Given the description of an element on the screen output the (x, y) to click on. 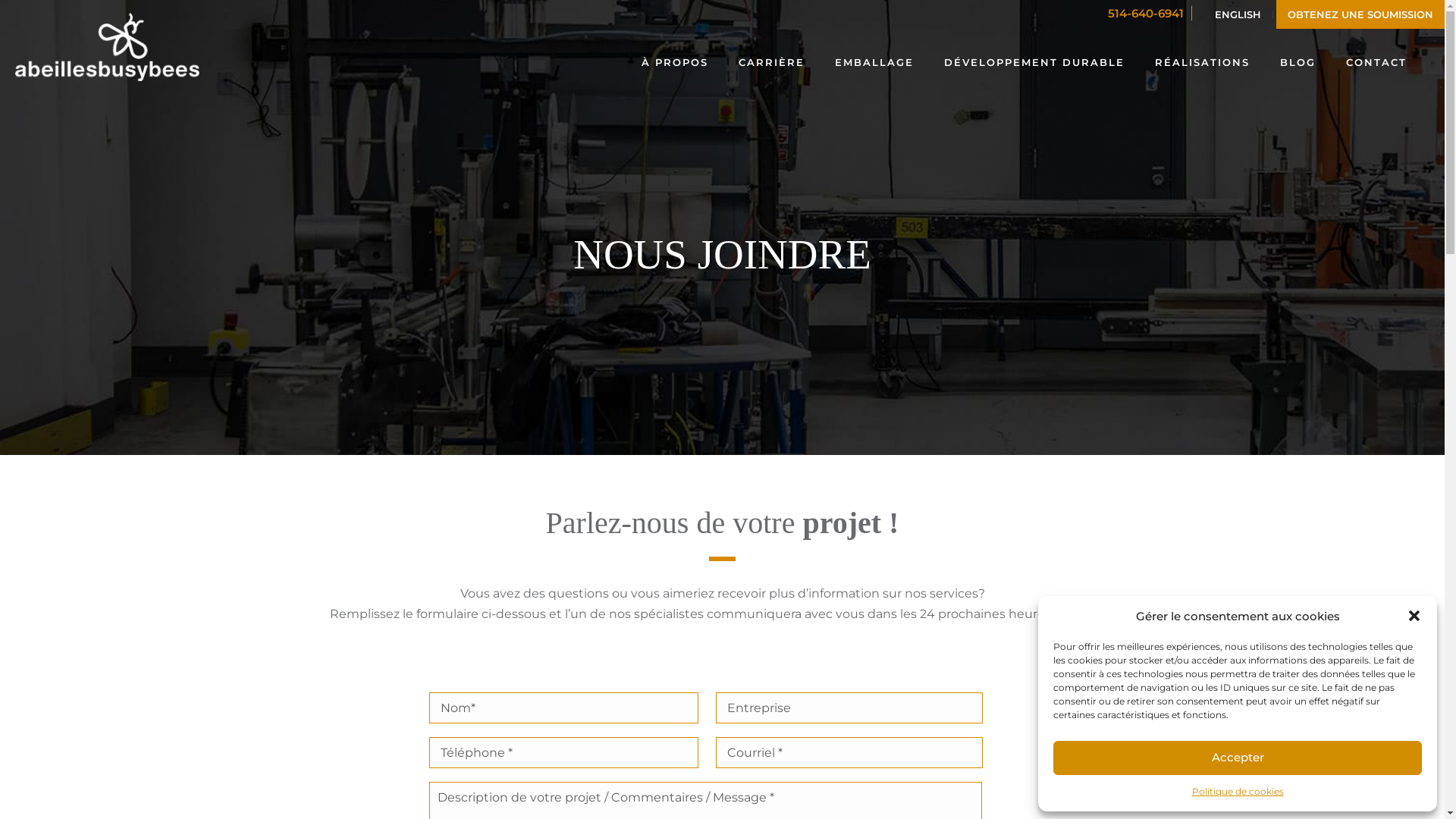
Accepter Element type: text (1237, 757)
BLOG Element type: text (1297, 60)
EMBALLAGE Element type: text (873, 60)
Politique de cookies Element type: text (1237, 791)
CONTACT Element type: text (1375, 60)
OBTENEZ UNE SOUMISSION Element type: text (1360, 14)
Services de copacking et emballages Element type: hover (107, 46)
ENGLISH Element type: text (1238, 14)
514-640-6941 Element type: text (1149, 13)
